Given the description of an element on the screen output the (x, y) to click on. 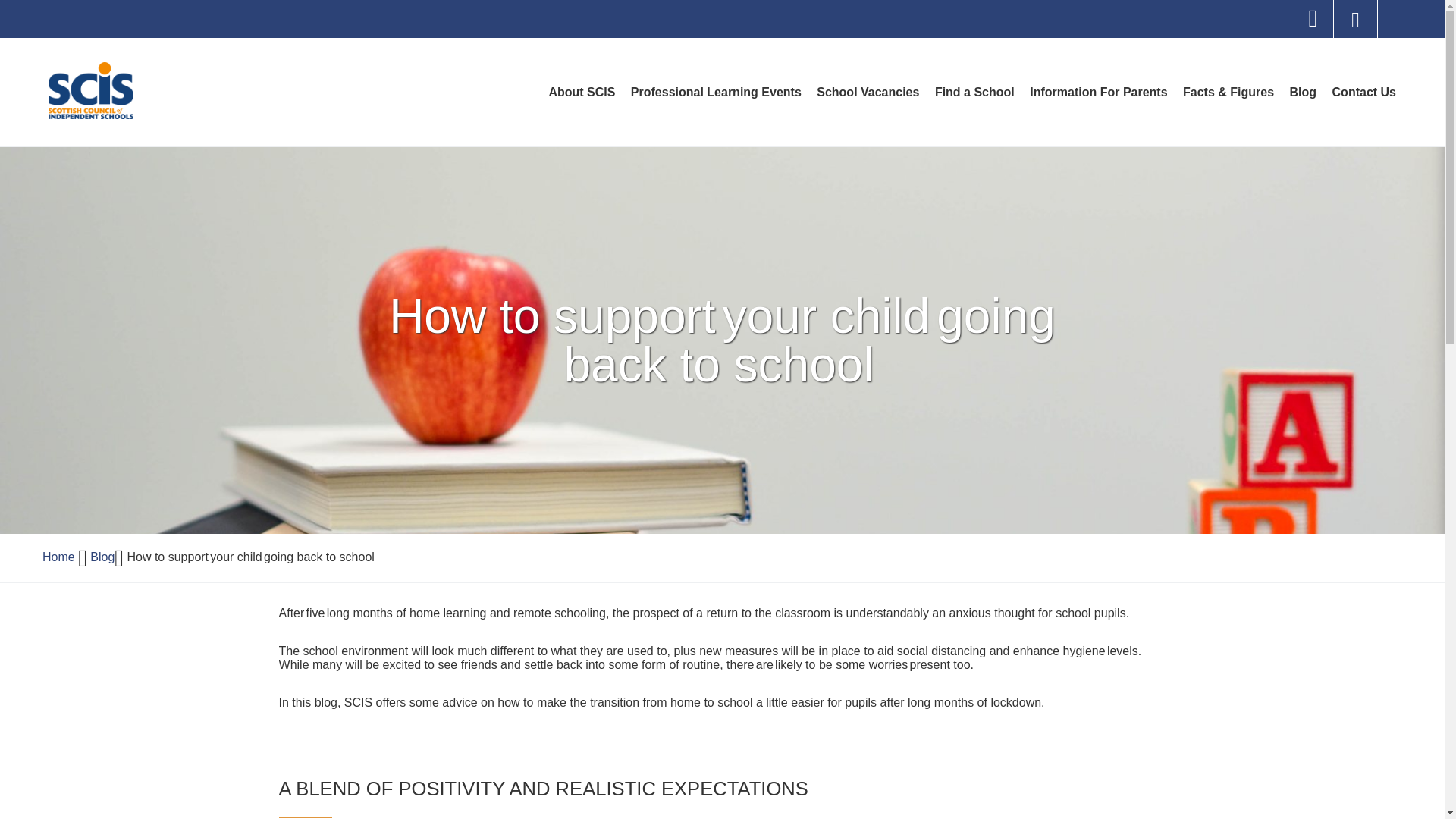
Professional Learning Events (716, 91)
Home (58, 556)
Submit (1313, 18)
Blog (581, 91)
Blog (1364, 91)
